Given the description of an element on the screen output the (x, y) to click on. 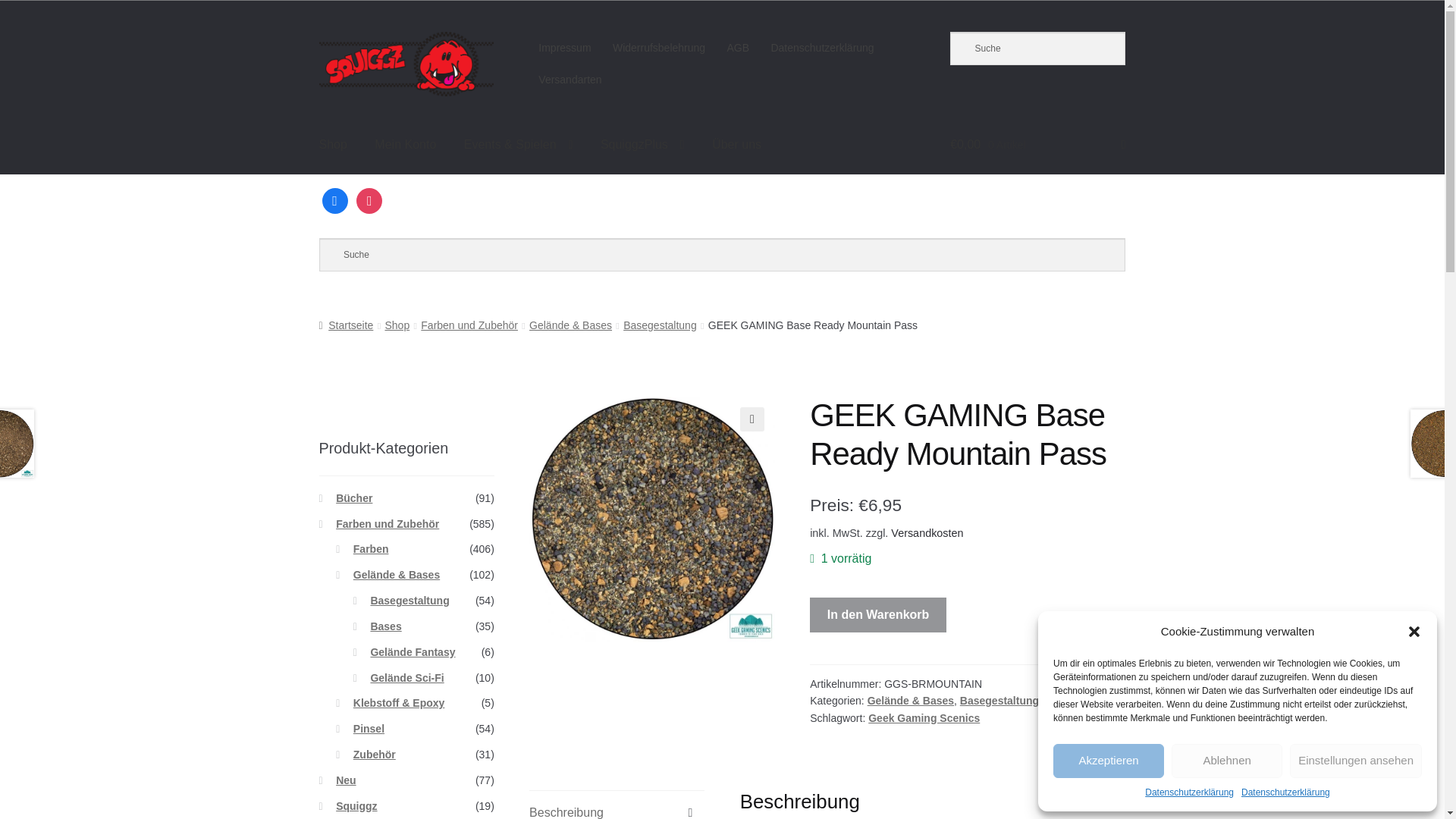
Deinen Warenkorb ansehen (1037, 144)
Ablehnen (1227, 760)
Versandarten (570, 79)
Widerrufsbelehrung (659, 47)
Impressum (564, 47)
Instagram (368, 200)
SquiggzPlus (642, 144)
Akzeptieren (1107, 760)
AGB (737, 47)
Einstellungen ansehen (1356, 760)
Shop (333, 144)
Facebook (334, 200)
Mein Konto (405, 144)
